Given the description of an element on the screen output the (x, y) to click on. 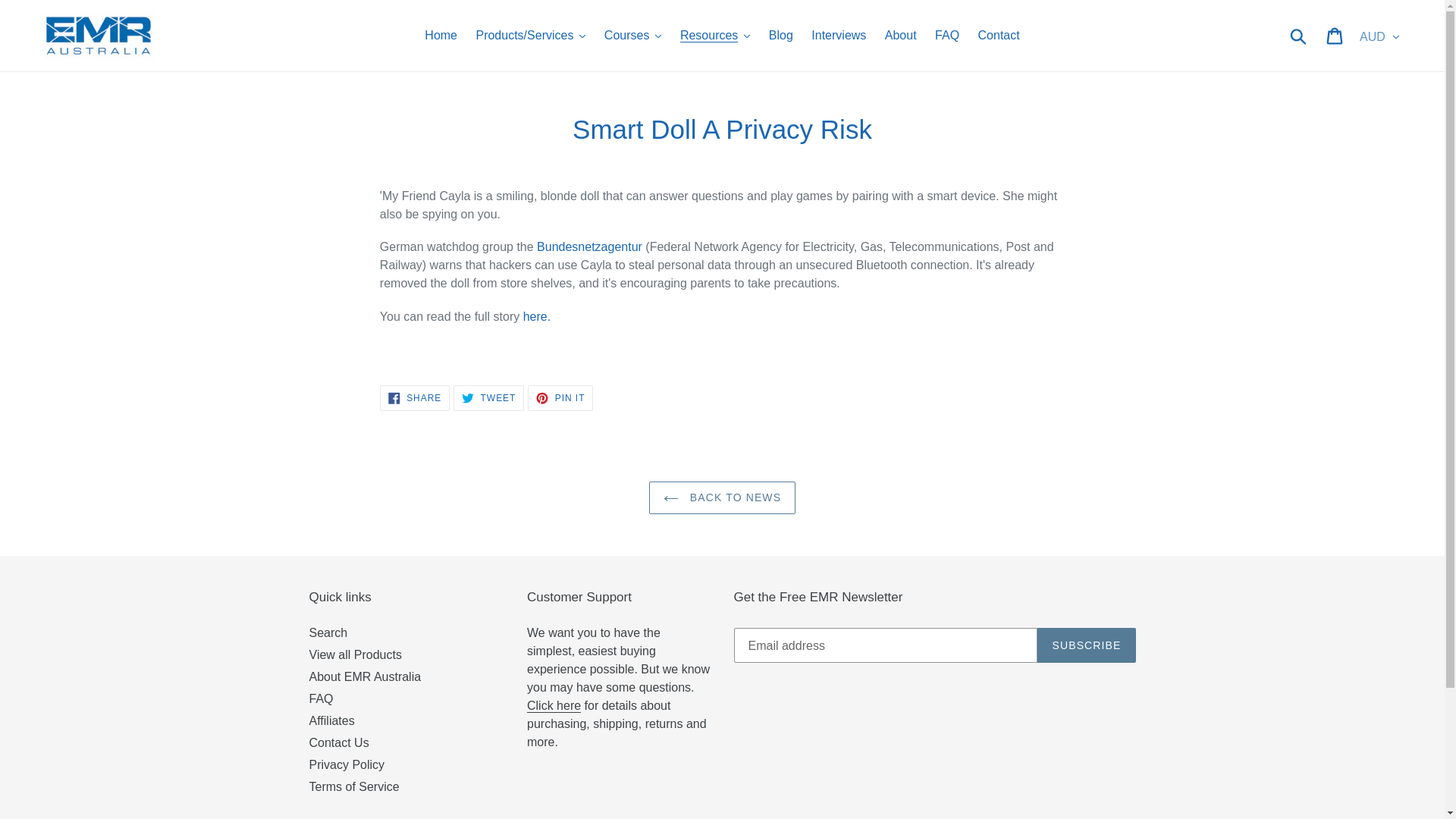
Home (440, 35)
Customer Support (553, 705)
